Given the description of an element on the screen output the (x, y) to click on. 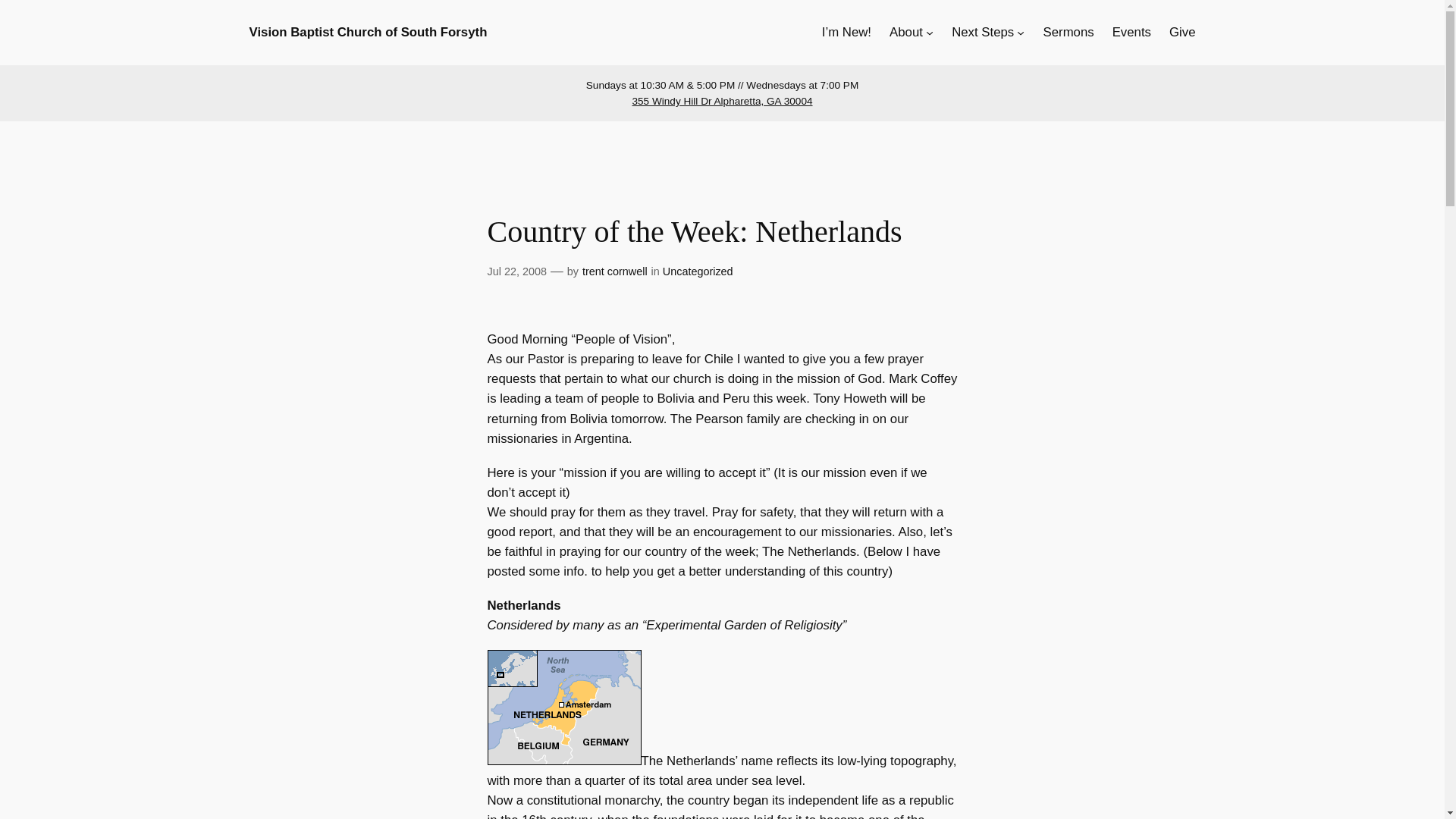
About (906, 32)
Next Steps (982, 32)
Give (1182, 32)
Jul 22, 2008 (516, 271)
Events (1131, 32)
trent cornwell (614, 271)
Uncategorized (697, 271)
Vision Baptist Church of South Forsyth (367, 32)
Sermons (1068, 32)
355 Windy Hill Dr Alpharetta, GA 30004 (721, 101)
